Given the description of an element on the screen output the (x, y) to click on. 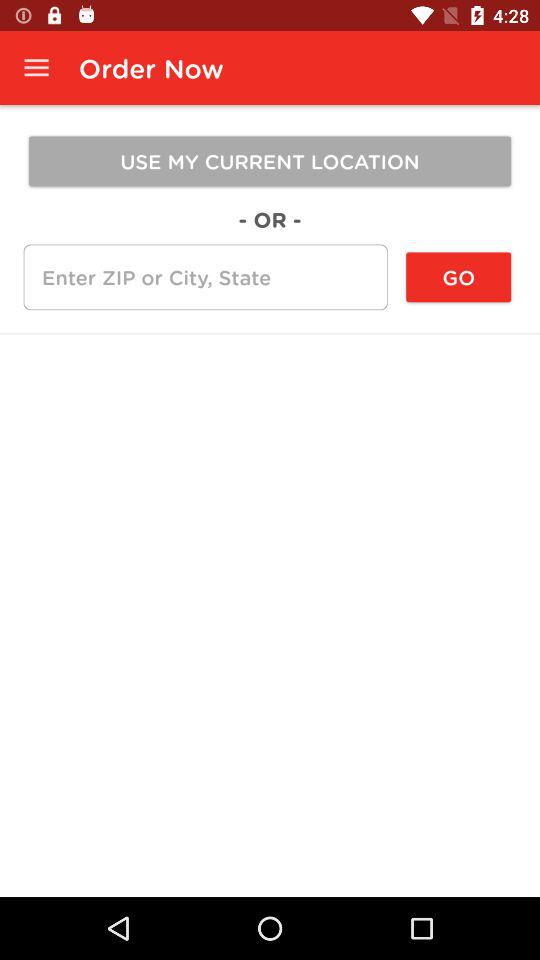
launch the icon at the center (270, 333)
